Given the description of an element on the screen output the (x, y) to click on. 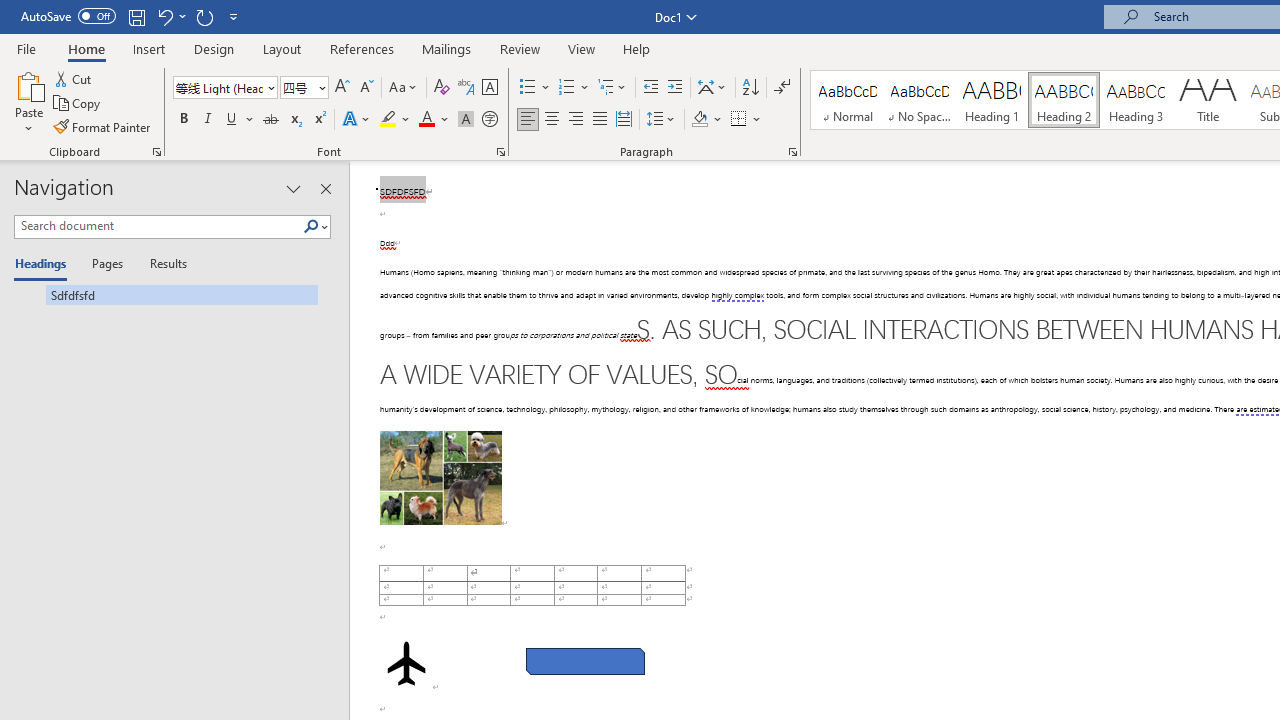
Heading 3 (1135, 100)
